Given the description of an element on the screen output the (x, y) to click on. 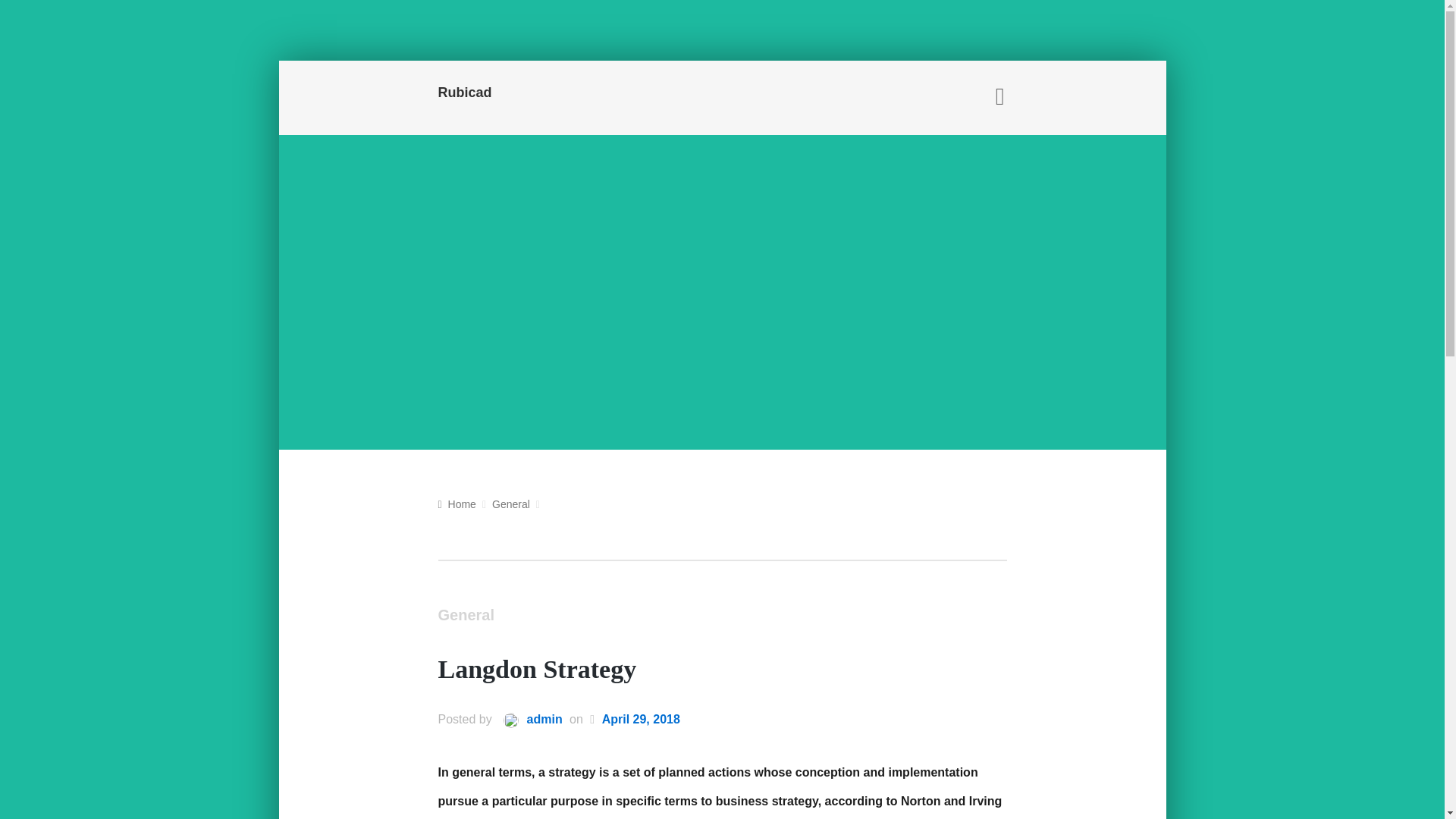
General (466, 616)
Rubicad -  (526, 93)
Posted by admin (528, 720)
posted on April 29, 2018 (640, 720)
April 29, 2018 (640, 720)
Home (457, 503)
See articles from category - General (466, 616)
See articles from category - General (510, 504)
General (510, 504)
go home (457, 503)
